Given the description of an element on the screen output the (x, y) to click on. 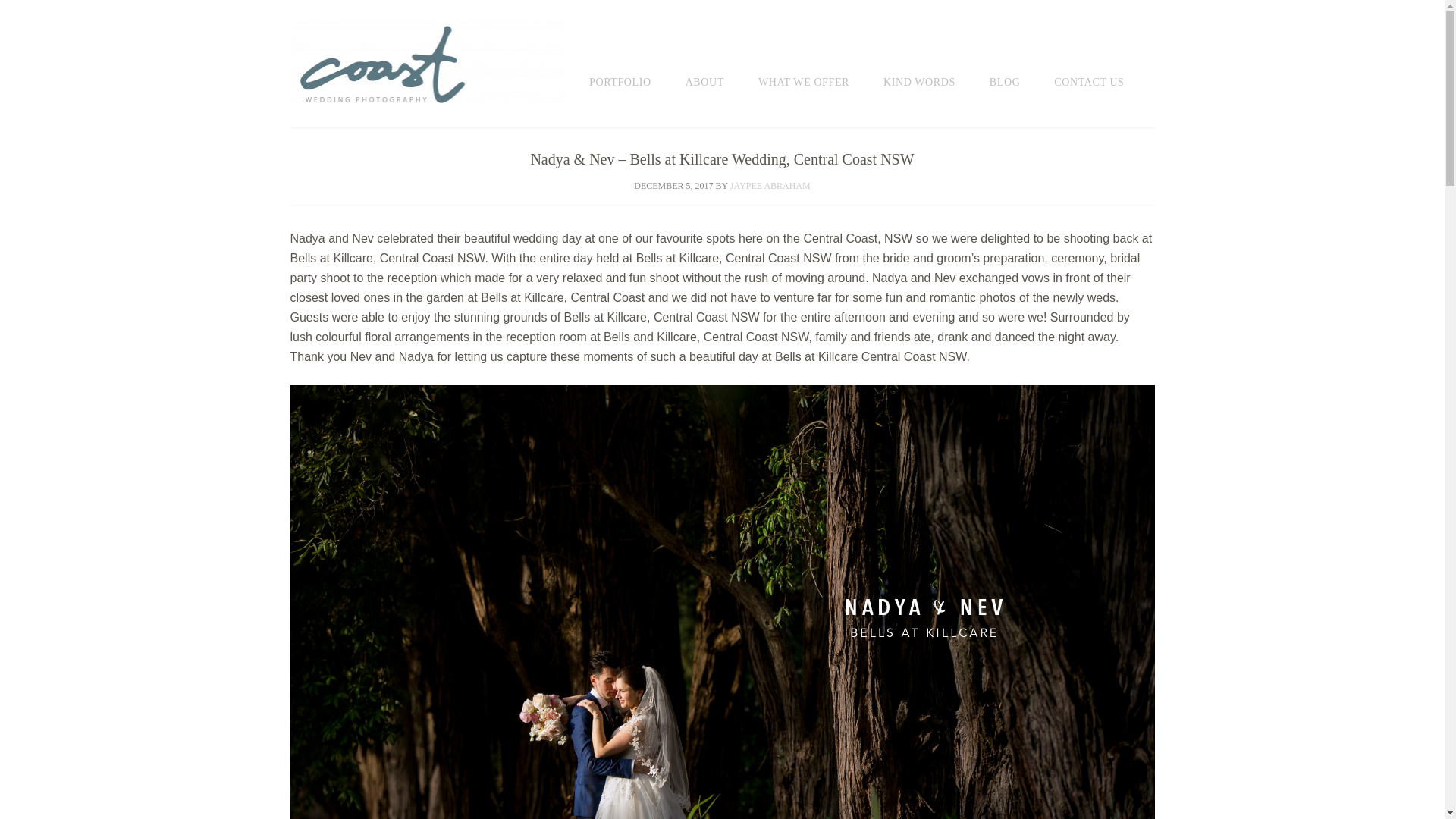
KIND WORDS (934, 66)
JAYPEE ABRAHAM (770, 185)
central coast wedding photography (427, 63)
ABOUT (719, 66)
PORTFOLIO (635, 66)
WHAT WE OFFER (818, 66)
CONTACT US (1104, 66)
BLOG (1020, 66)
